Given the description of an element on the screen output the (x, y) to click on. 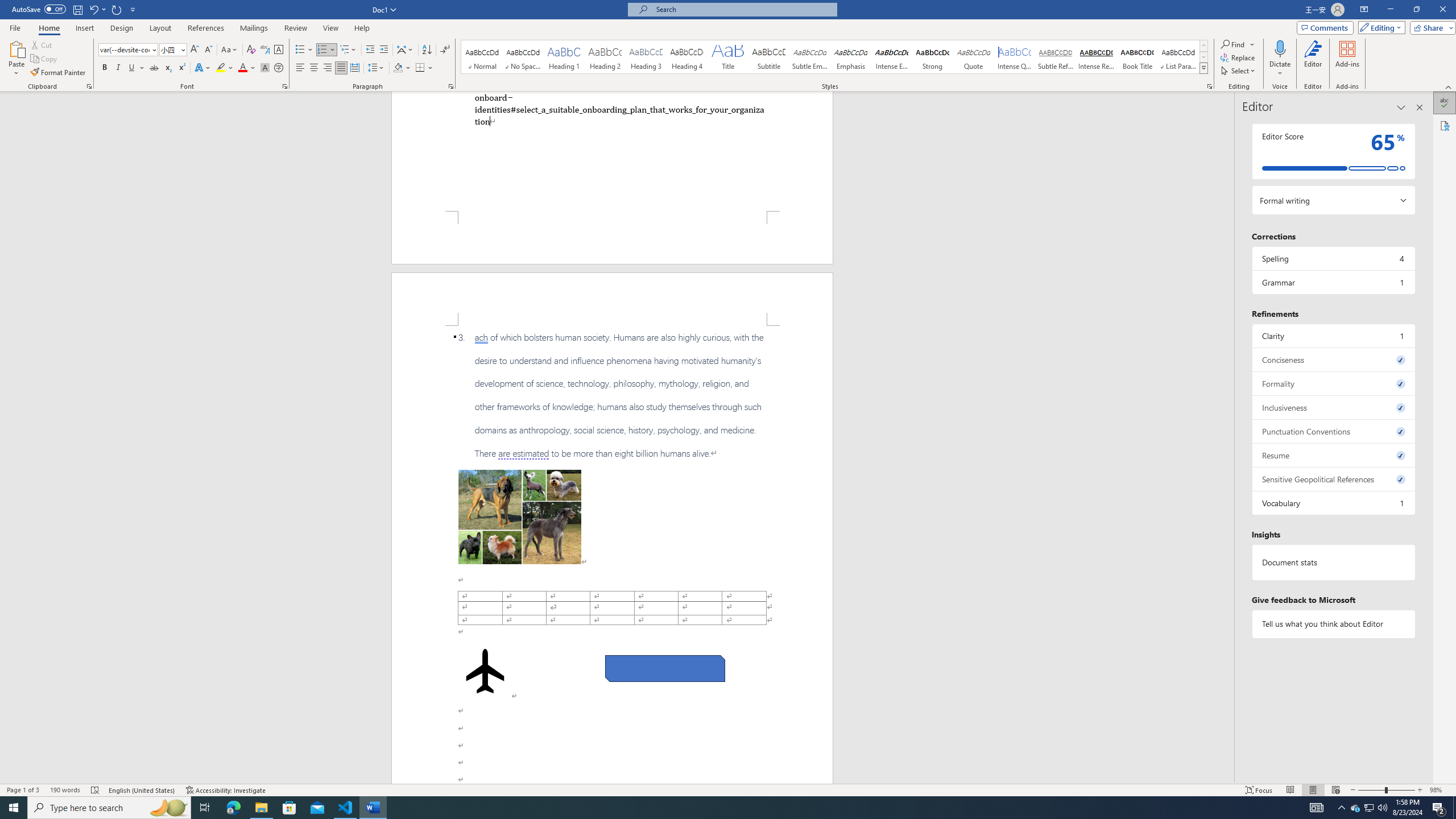
Clarity, 1 issue. Press space or enter to review items. (1333, 335)
